Given the description of an element on the screen output the (x, y) to click on. 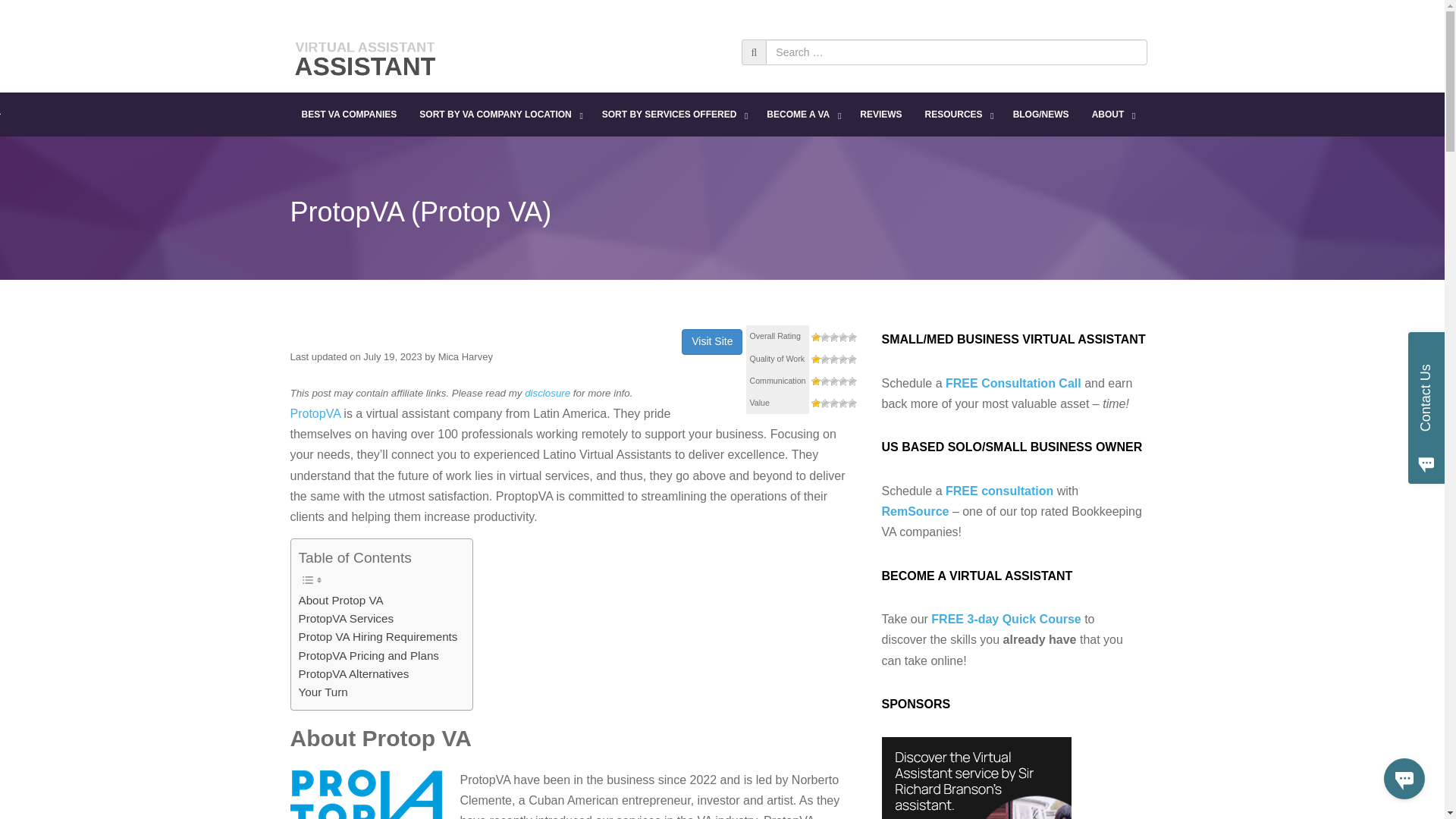
Your Turn (322, 692)
Search for: (956, 52)
ProtopVA Alternatives (353, 674)
SORT BY SERVICES OFFERED (673, 114)
REVIEWS (880, 114)
BECOME A VA (801, 114)
ABOUT (1111, 114)
About Protop VA (341, 600)
RESOURCES (957, 114)
Virtual Assistant Reviews (365, 55)
ProtopVA Services (346, 618)
SORT BY VA COMPANY LOCATION (498, 114)
BEST VA COMPANIES (348, 114)
ProtopVA Pricing and Plans (368, 656)
Protop VA Hiring Requirements (378, 637)
